Given the description of an element on the screen output the (x, y) to click on. 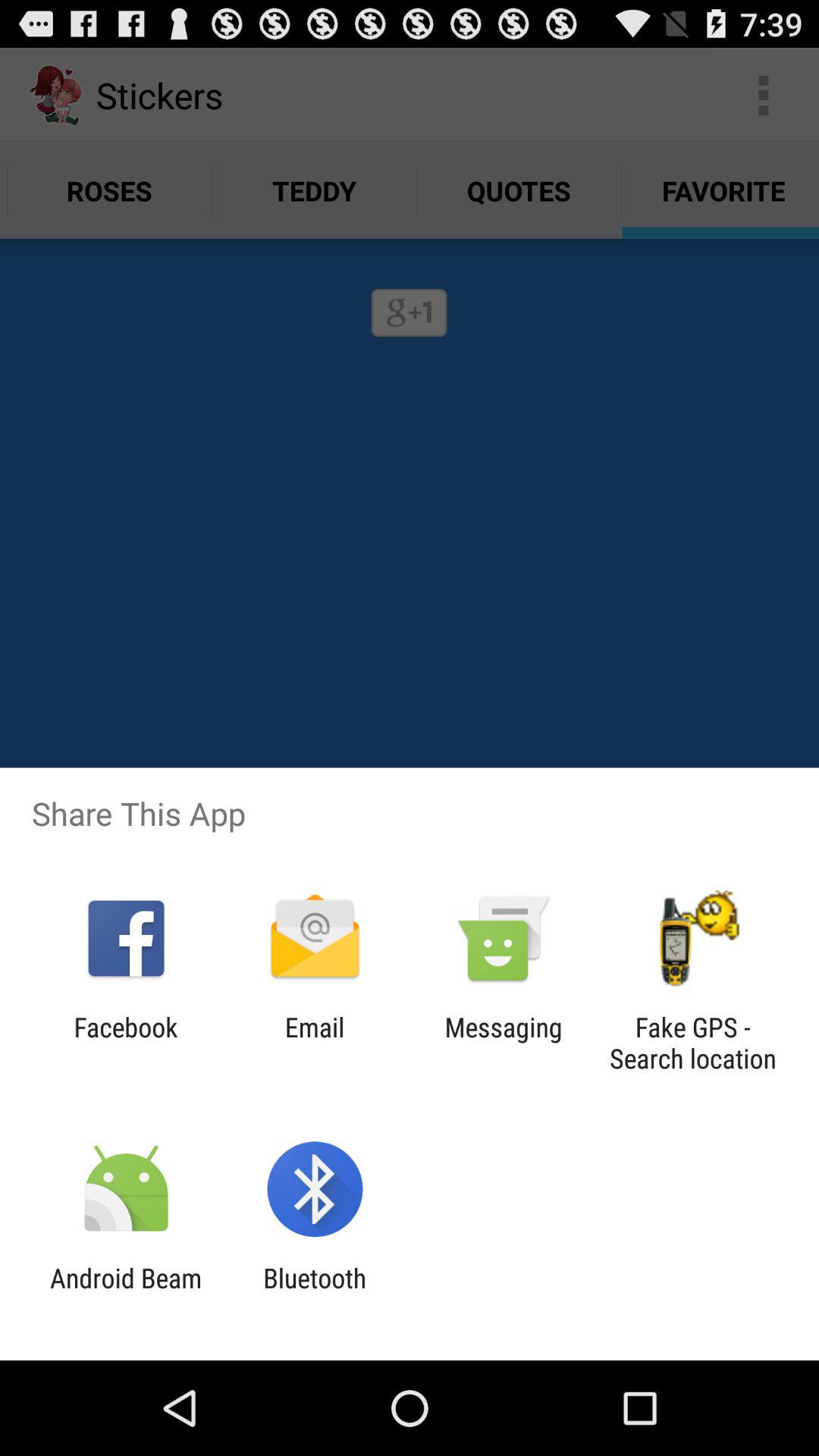
launch the email icon (314, 1042)
